Given the description of an element on the screen output the (x, y) to click on. 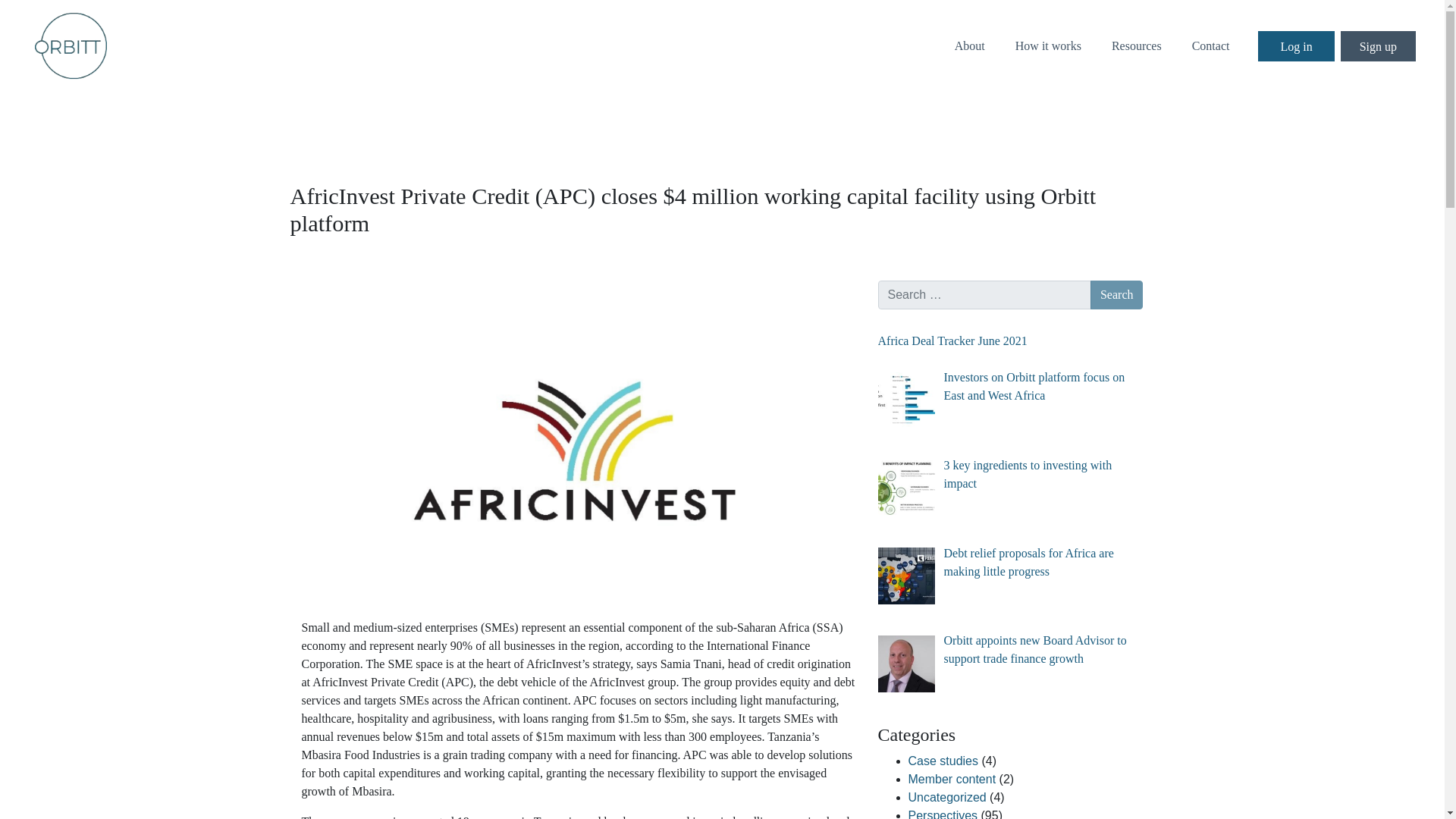
About (977, 45)
Search (1116, 294)
Investors on Orbitt platform focus on East and West Africa (1033, 386)
Resources (1144, 45)
How it works (1055, 45)
Log in (1295, 45)
Africa Deal Tracker June 2021 (952, 340)
3 key ingredients to investing with impact (1027, 473)
Debt relief proposals for Africa are making little progress (1028, 562)
Search (1116, 294)
Sign up (1377, 45)
Contact (1218, 45)
